Given the description of an element on the screen output the (x, y) to click on. 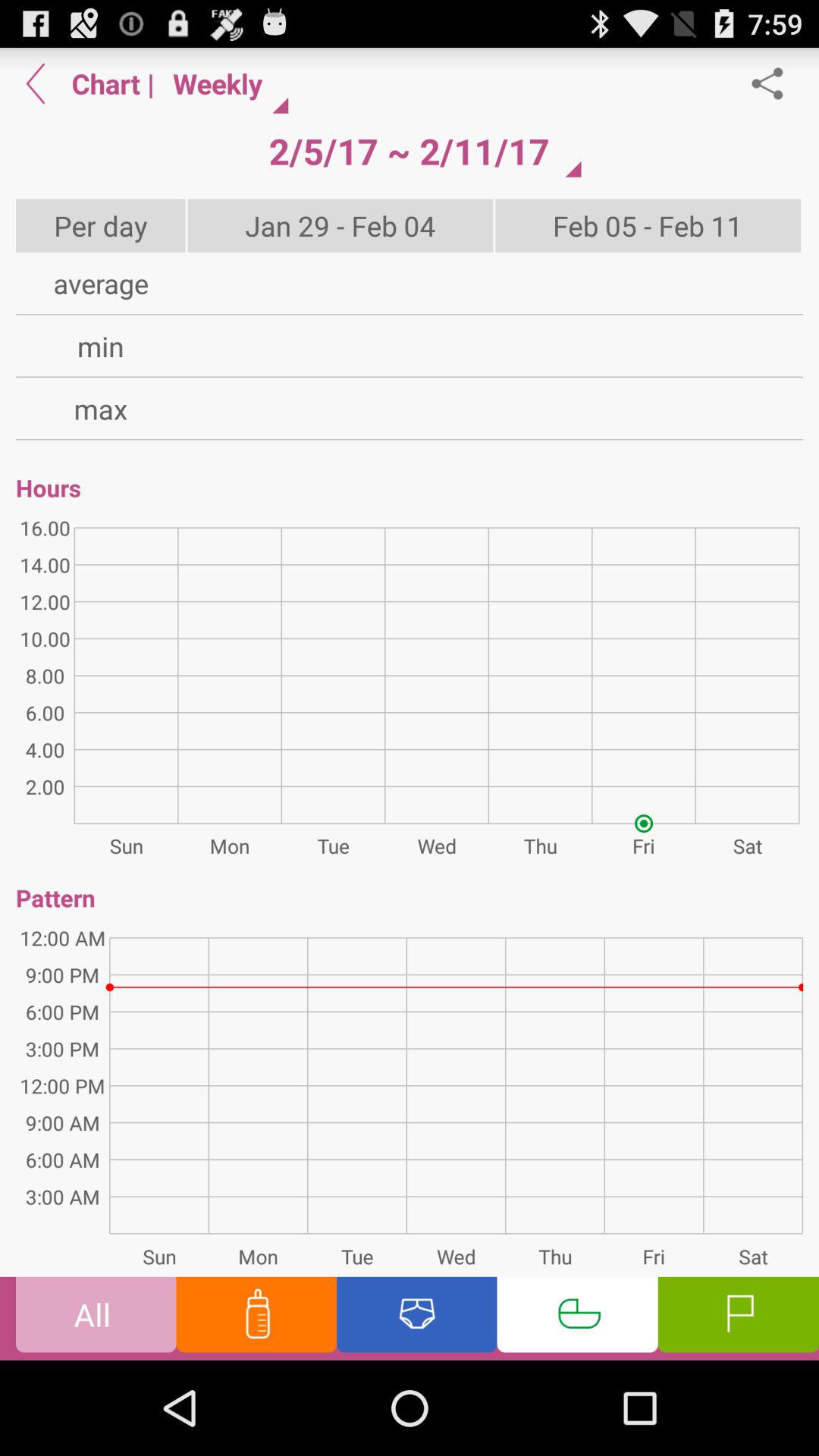
jump to the weekly item (224, 83)
